Given the description of an element on the screen output the (x, y) to click on. 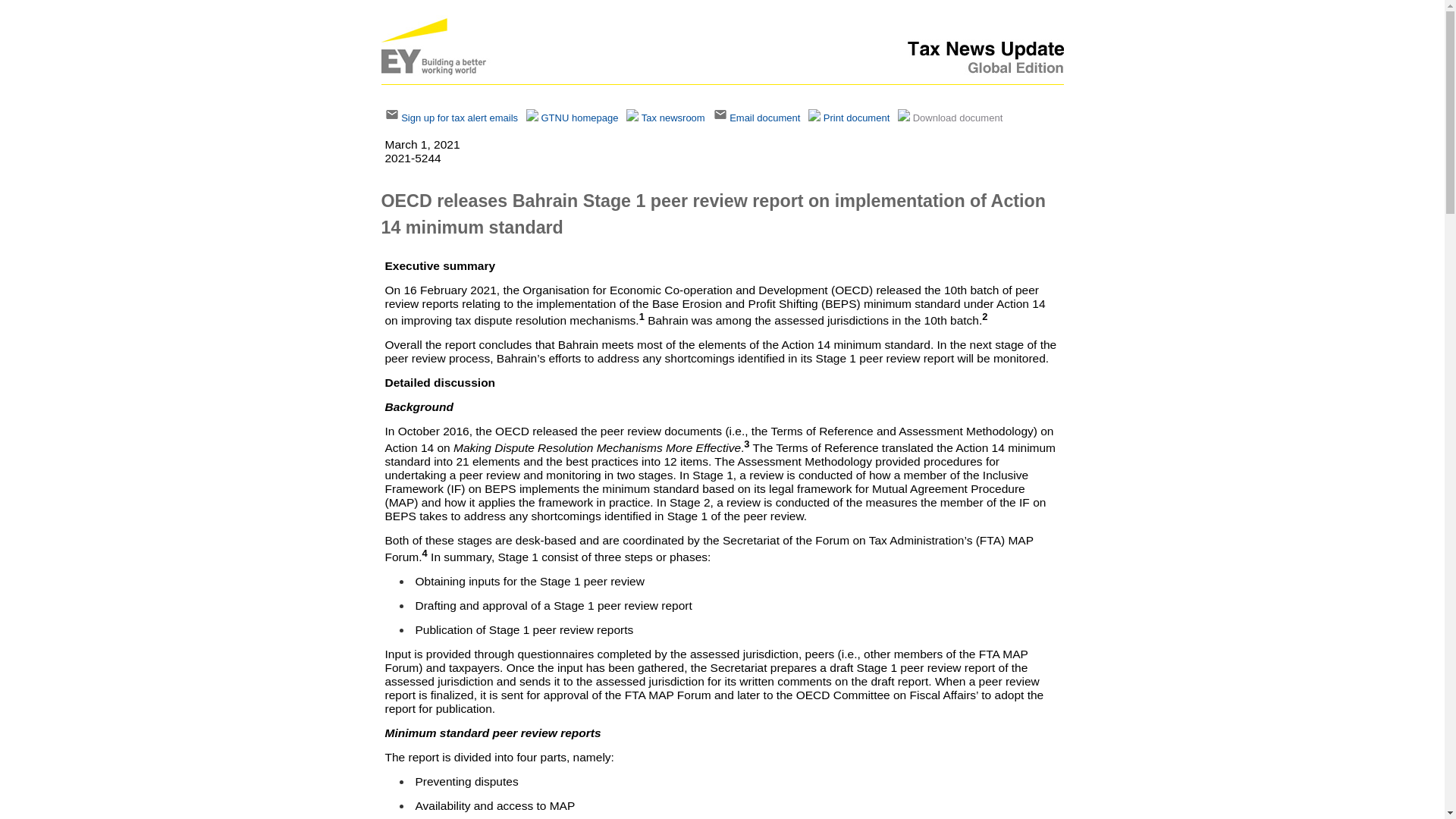
Print document (856, 117)
Download document (957, 117)
Sign up for tax alert emails (459, 117)
Tax newsroom (673, 117)
GTNU homepage (579, 117)
Email document (764, 117)
